Given the description of an element on the screen output the (x, y) to click on. 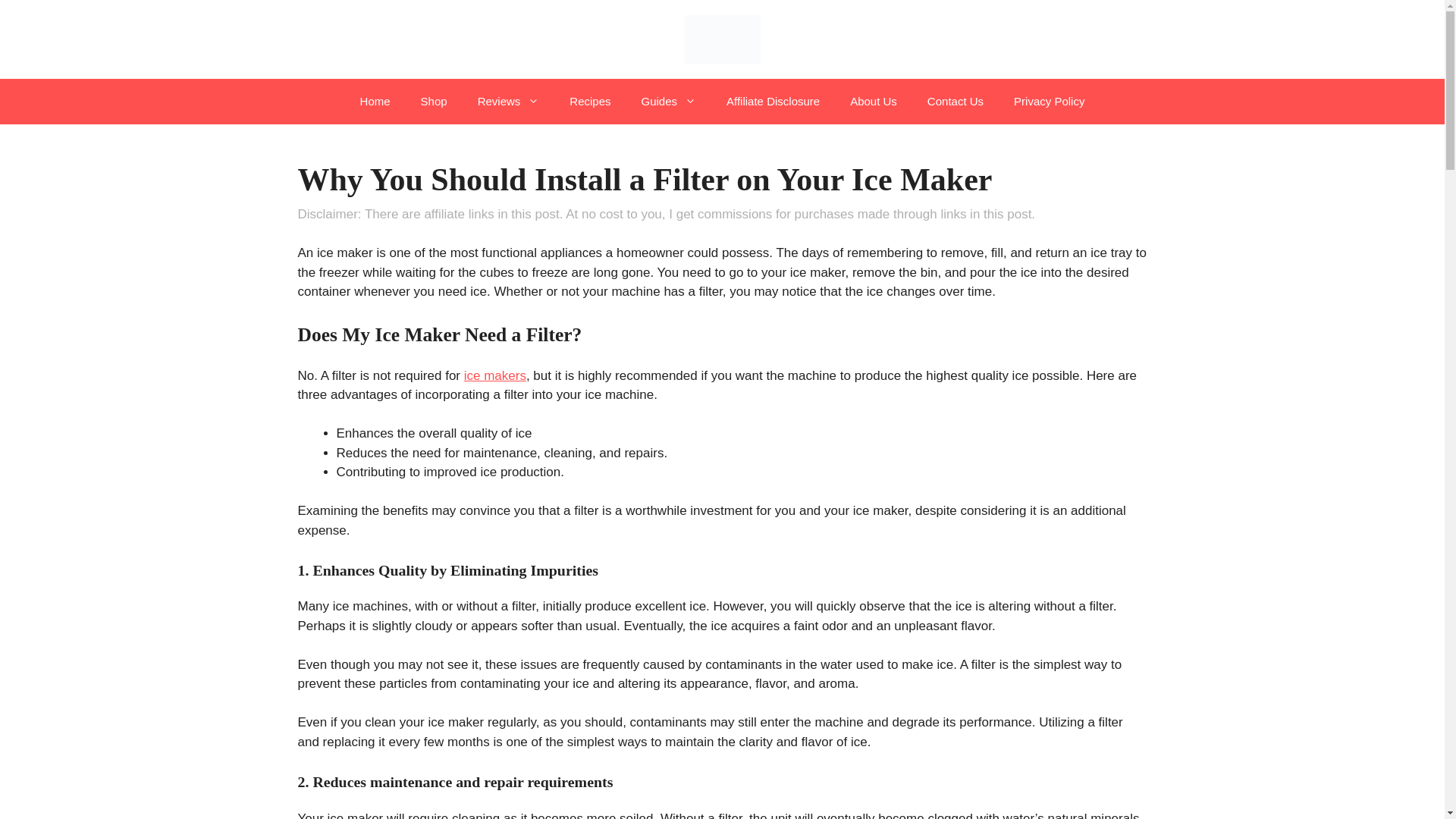
Recipes (590, 101)
Shop (434, 101)
ice makers (494, 375)
Home (375, 101)
Guides (668, 101)
Affiliate Disclosure (772, 101)
About Us (873, 101)
Contact Us (955, 101)
Privacy Policy (1048, 101)
Reviews (508, 101)
